Given the description of an element on the screen output the (x, y) to click on. 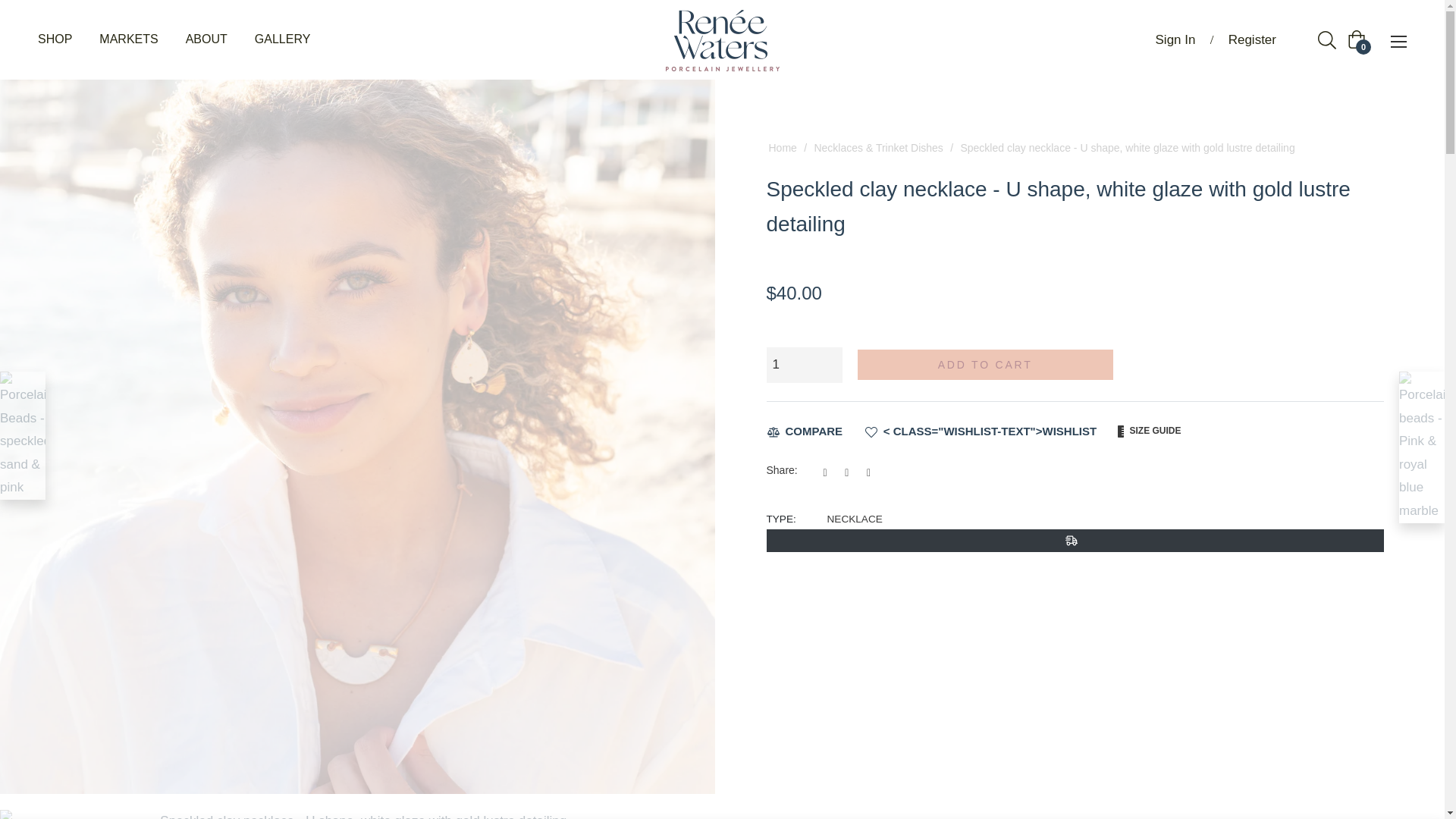
GALLERY (282, 39)
Home (781, 147)
Register (1252, 39)
Wishlist (980, 431)
Sign In (1175, 39)
Share on Facebook (831, 472)
Tweet on Twitter (851, 472)
MARKETS (128, 39)
Compare (804, 431)
Home (781, 147)
Shopping Cart (1356, 39)
1 (803, 365)
